Given the description of an element on the screen output the (x, y) to click on. 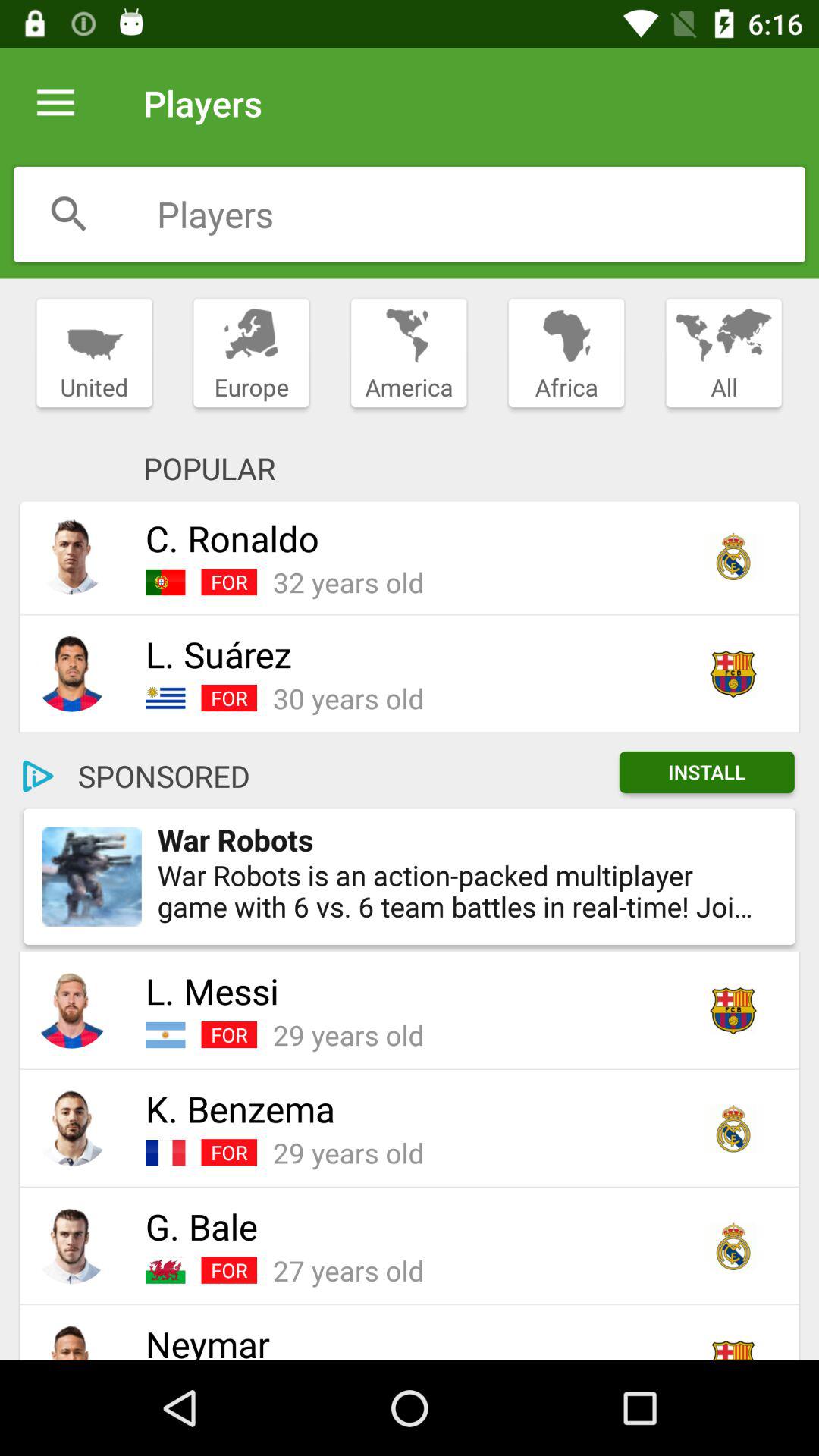
search players (480, 214)
